Given the description of an element on the screen output the (x, y) to click on. 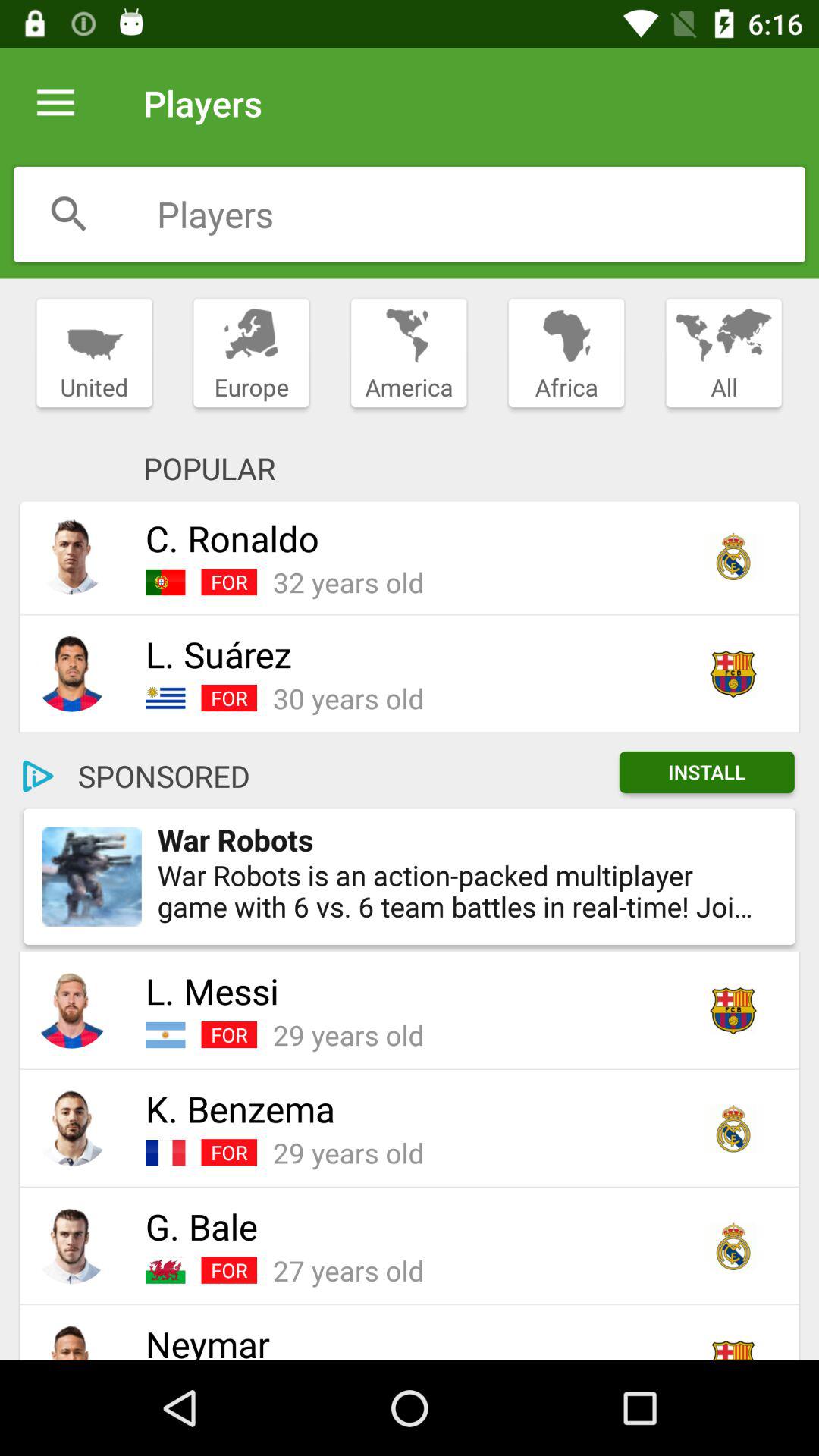
search players (480, 214)
